Given the description of an element on the screen output the (x, y) to click on. 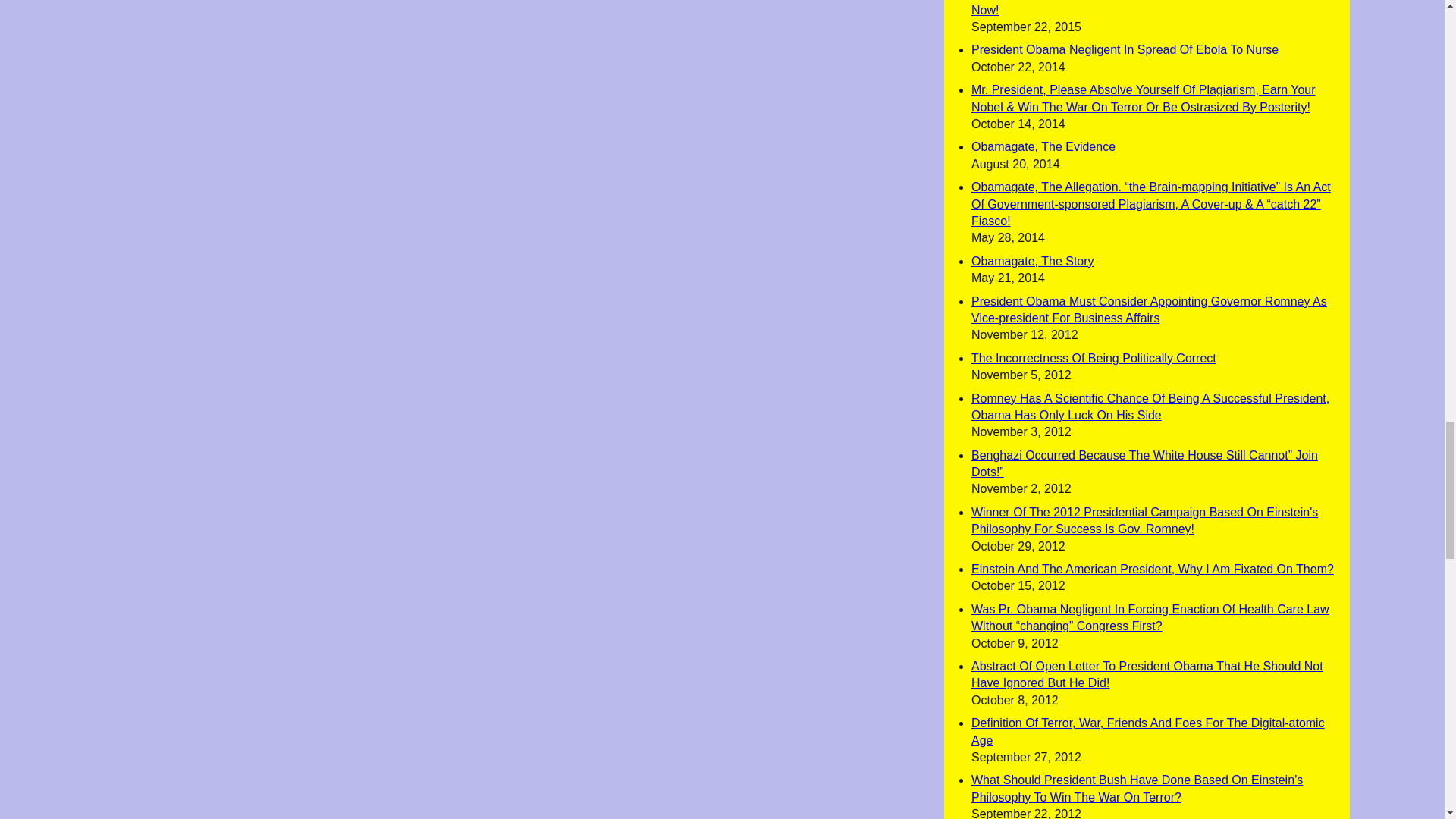
Obamagate, The Evidence (1043, 146)
President Obama Negligent In Spread Of Ebola To Nurse (1124, 49)
